Given the description of an element on the screen output the (x, y) to click on. 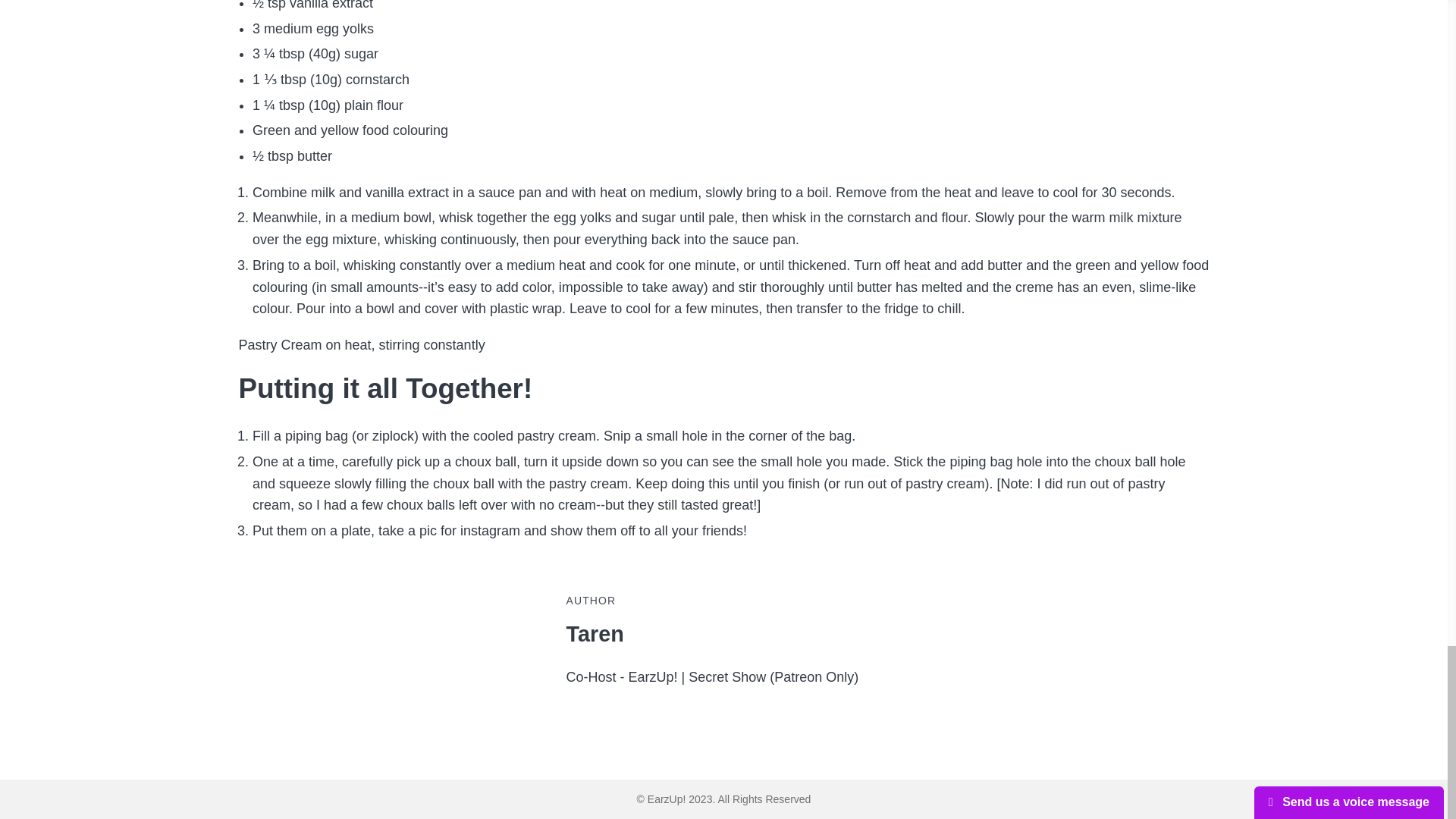
Taren (796, 633)
